Given the description of an element on the screen output the (x, y) to click on. 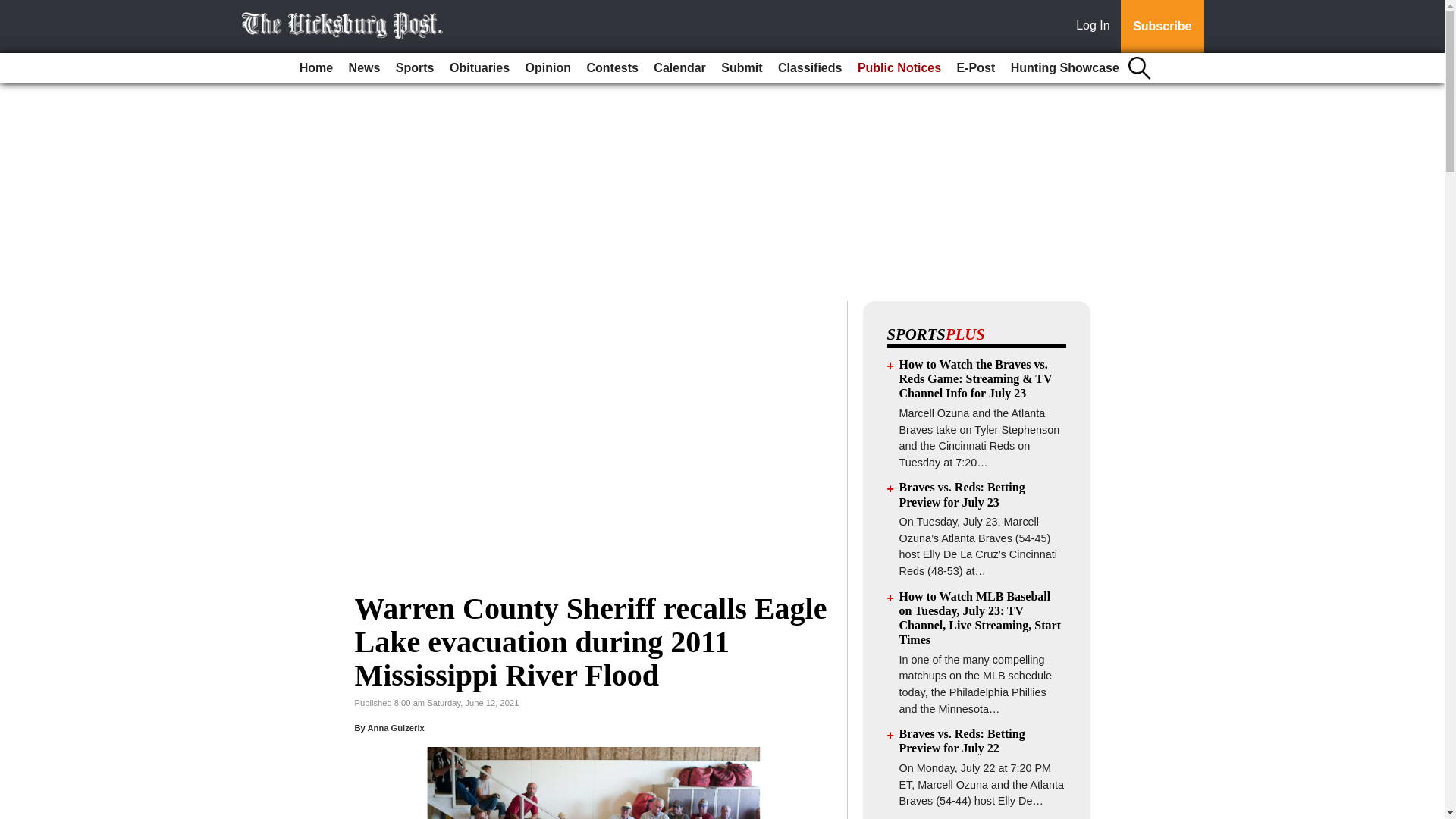
Anna Guizerix (394, 727)
E-Post (975, 68)
Log In (1095, 26)
Sports (415, 68)
Subscribe (1162, 26)
Hunting Showcase (1064, 68)
News (364, 68)
Contests (611, 68)
Go (13, 9)
Opinion (547, 68)
Classifieds (809, 68)
Calendar (679, 68)
Obituaries (479, 68)
Submit (741, 68)
Home (316, 68)
